Given the description of an element on the screen output the (x, y) to click on. 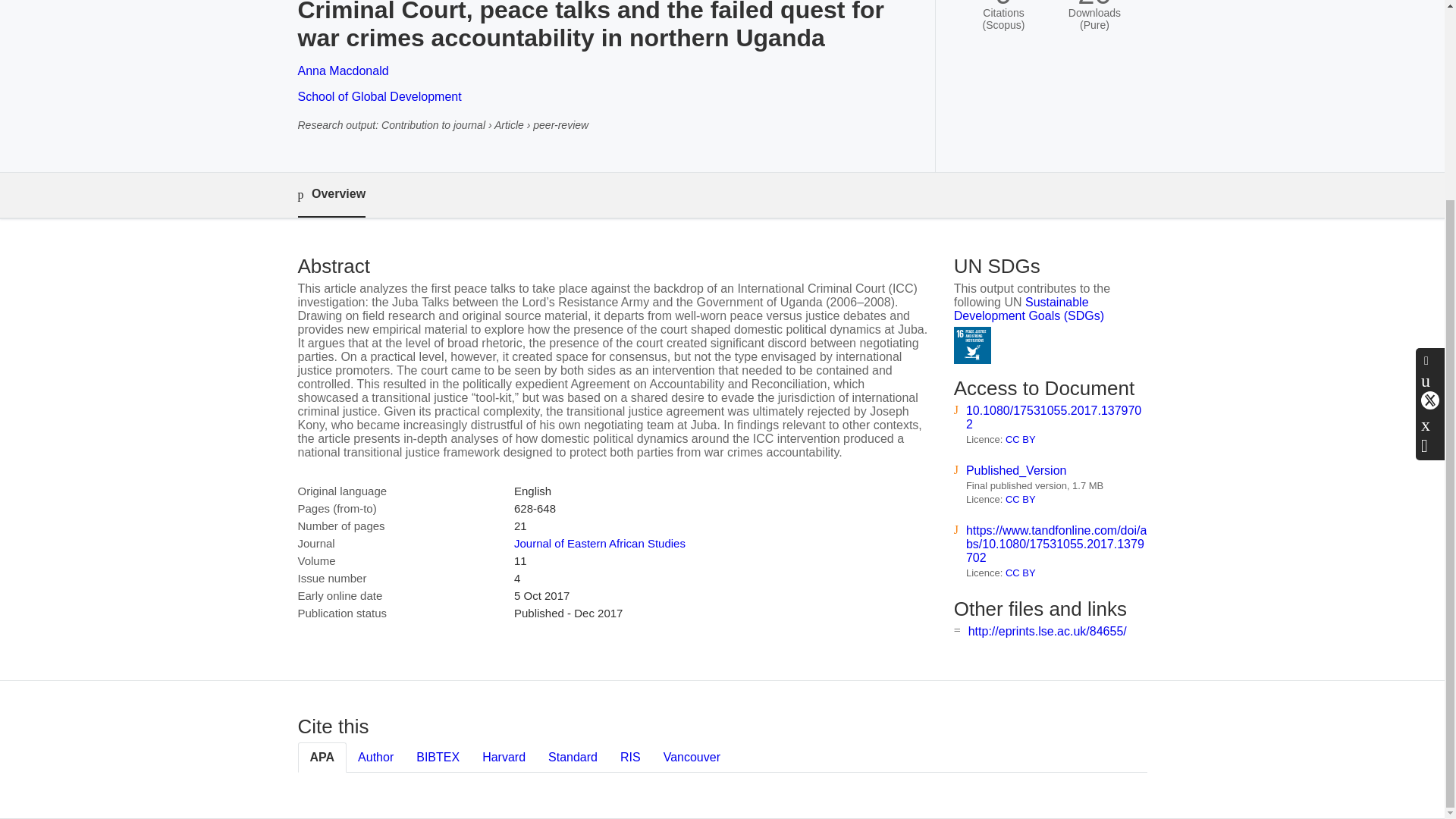
SDG 16 - Peace, Justice and Strong Institutions (972, 344)
Overview (331, 194)
Anna Macdonald (342, 70)
CC BY (1020, 499)
Journal of Eastern African Studies (599, 543)
CC BY (1020, 572)
School of Global Development (379, 96)
CC BY (1020, 439)
